Given the description of an element on the screen output the (x, y) to click on. 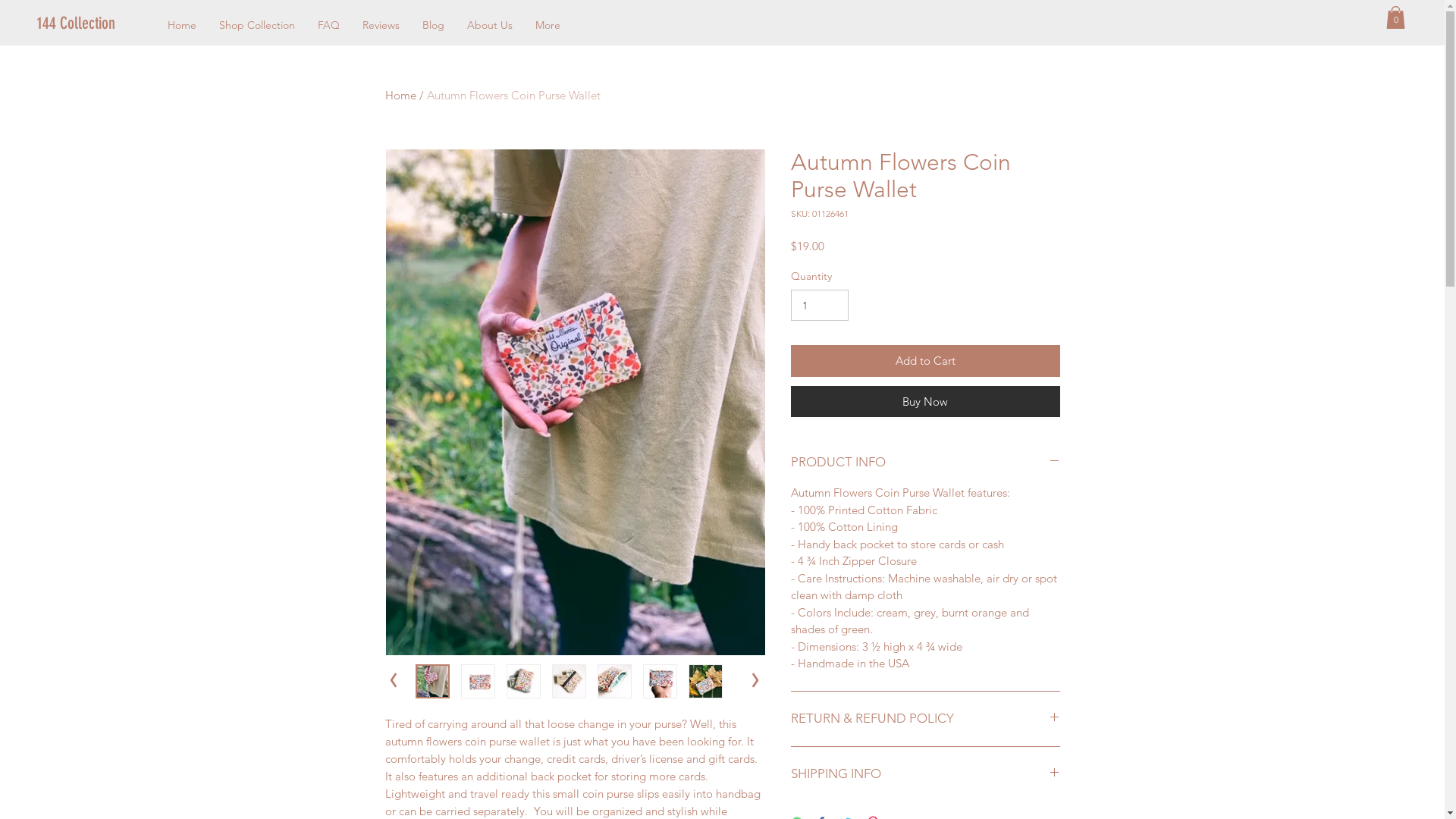
0 Element type: text (1395, 17)
About Us Element type: text (489, 25)
Site Search Element type: hover (984, 22)
SHIPPING INFO Element type: text (924, 774)
Add to Cart Element type: text (924, 361)
Buy Now Element type: text (924, 401)
144 Collection Element type: text (89, 23)
PRODUCT INFO Element type: text (924, 462)
Home Element type: text (400, 94)
Autumn Flowers Coin Purse Wallet Element type: text (512, 94)
Blog Element type: text (433, 25)
RETURN & REFUND POLICY Element type: text (924, 718)
Home Element type: text (181, 25)
FAQ Element type: text (328, 25)
Reviews Element type: text (381, 25)
